Given the description of an element on the screen output the (x, y) to click on. 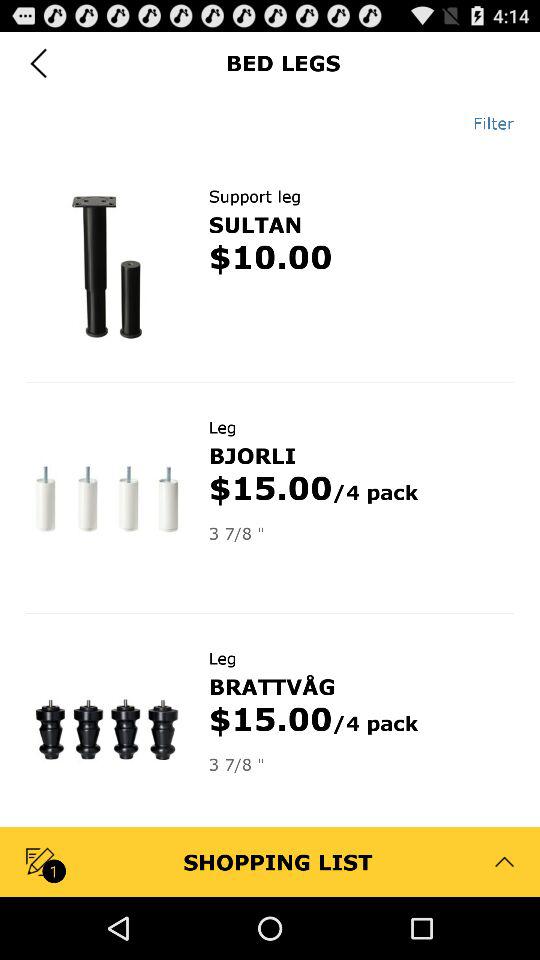
click bjorli (252, 455)
